Given the description of an element on the screen output the (x, y) to click on. 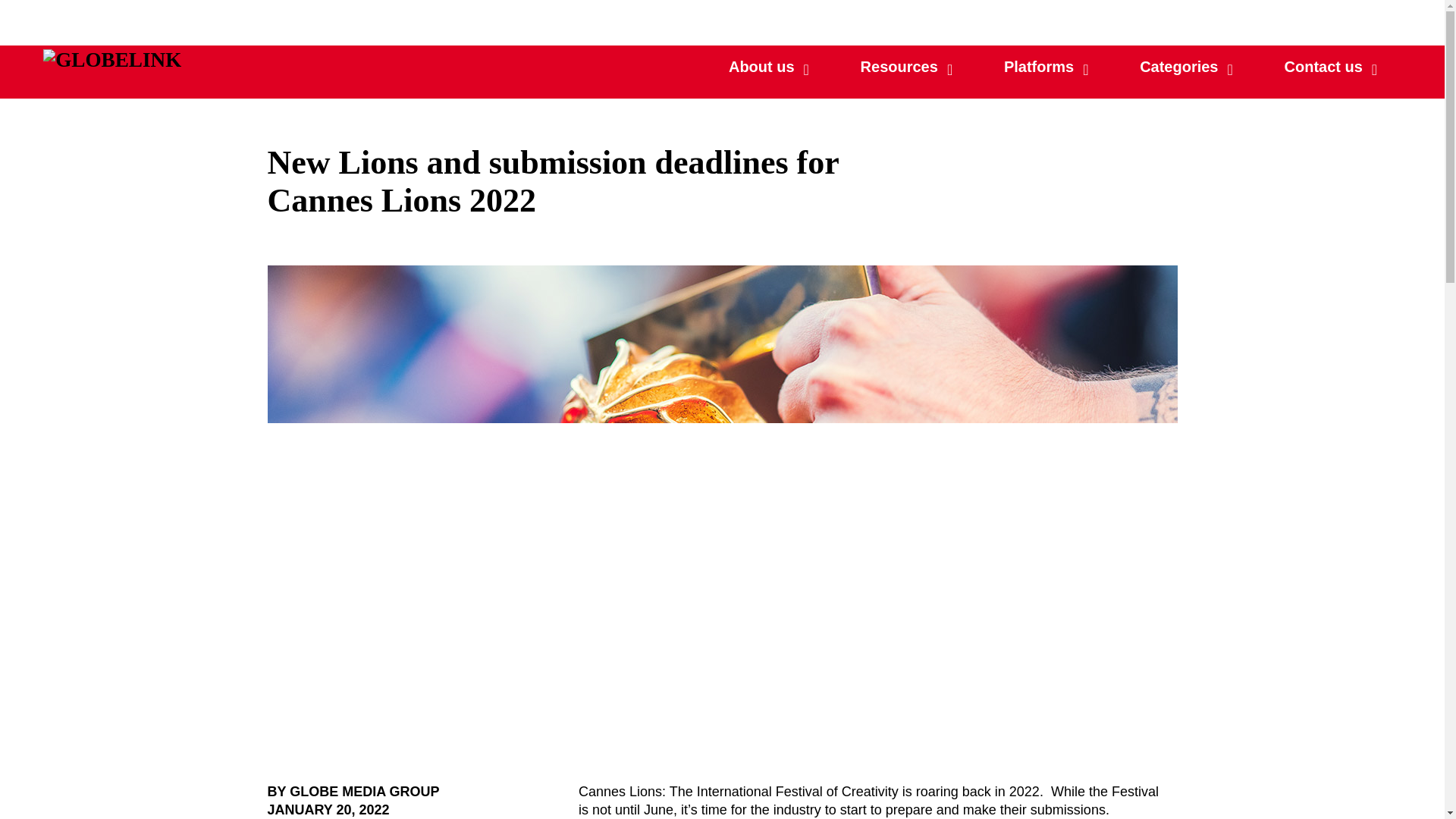
Resources (904, 66)
GlobeLink (111, 59)
Categories (1050, 66)
Platforms (1184, 66)
About us (1044, 66)
